Given the description of an element on the screen output the (x, y) to click on. 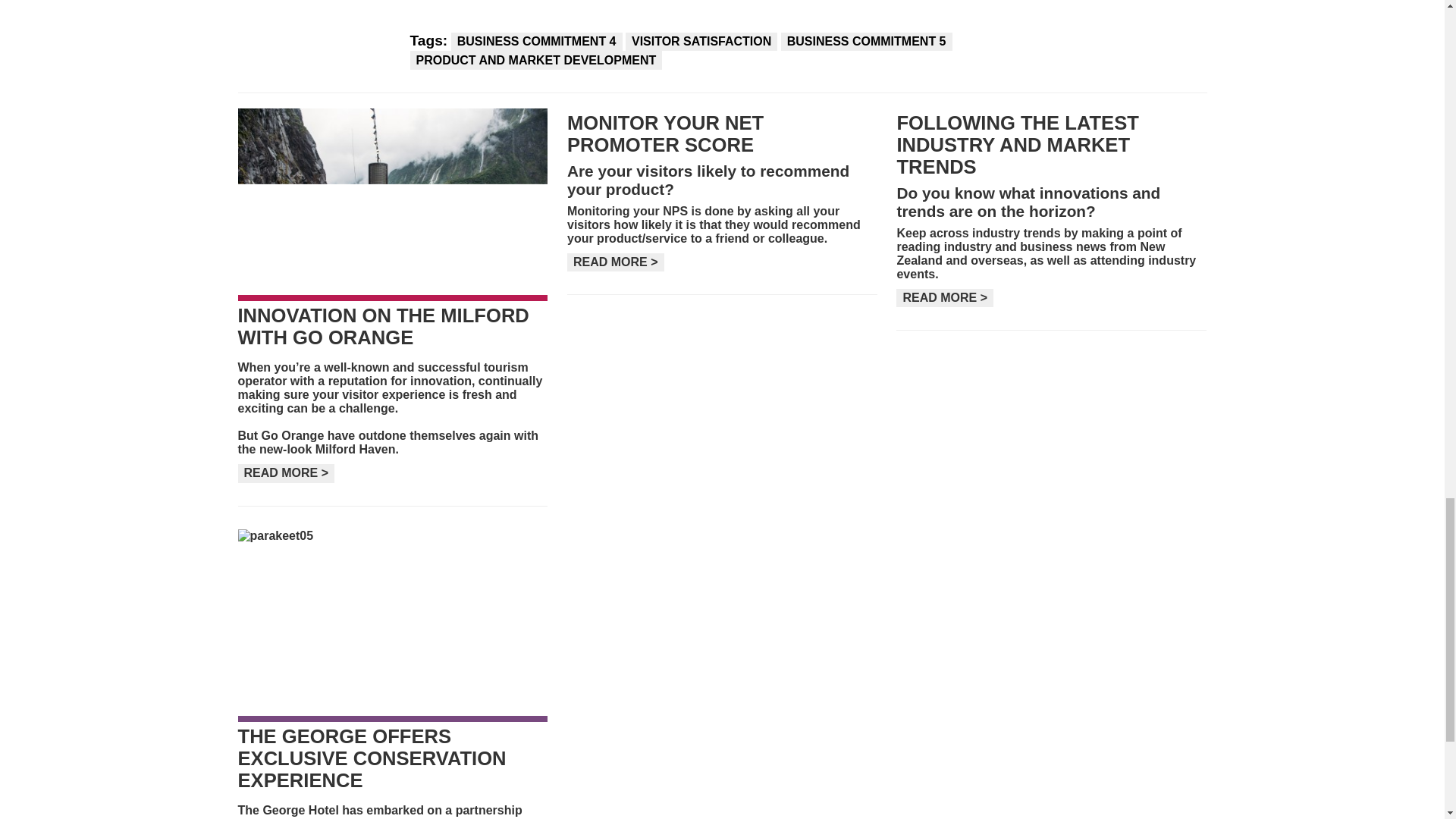
VISITOR SATISFACTION (701, 41)
PRODUCT AND MARKET DEVELOPMENT (535, 59)
BUSINESS COMMITMENT 4 (537, 41)
BUSINESS COMMITMENT 5 (866, 41)
